Given the description of an element on the screen output the (x, y) to click on. 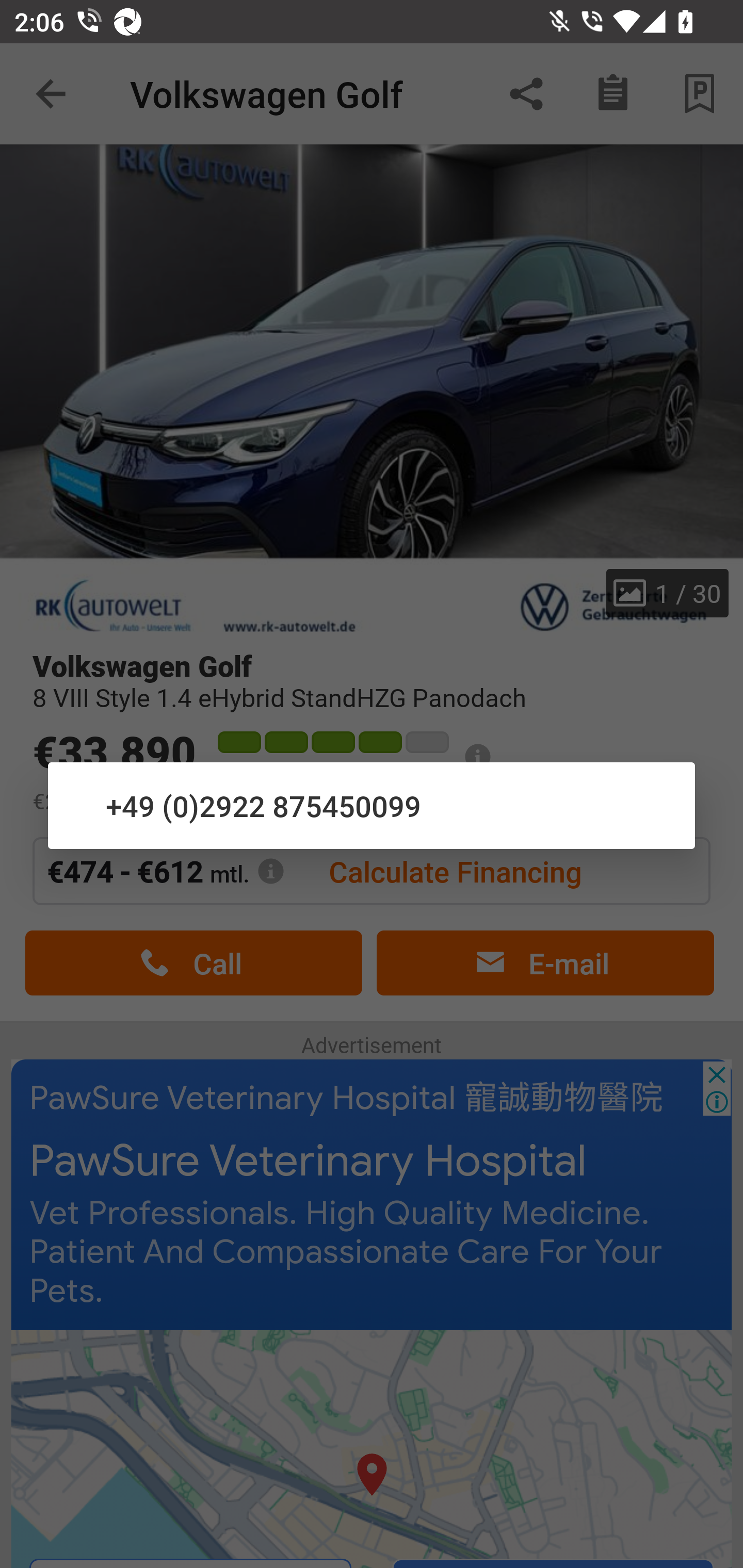
+49 (0)2922 875450099 (371, 805)
